Given the description of an element on the screen output the (x, y) to click on. 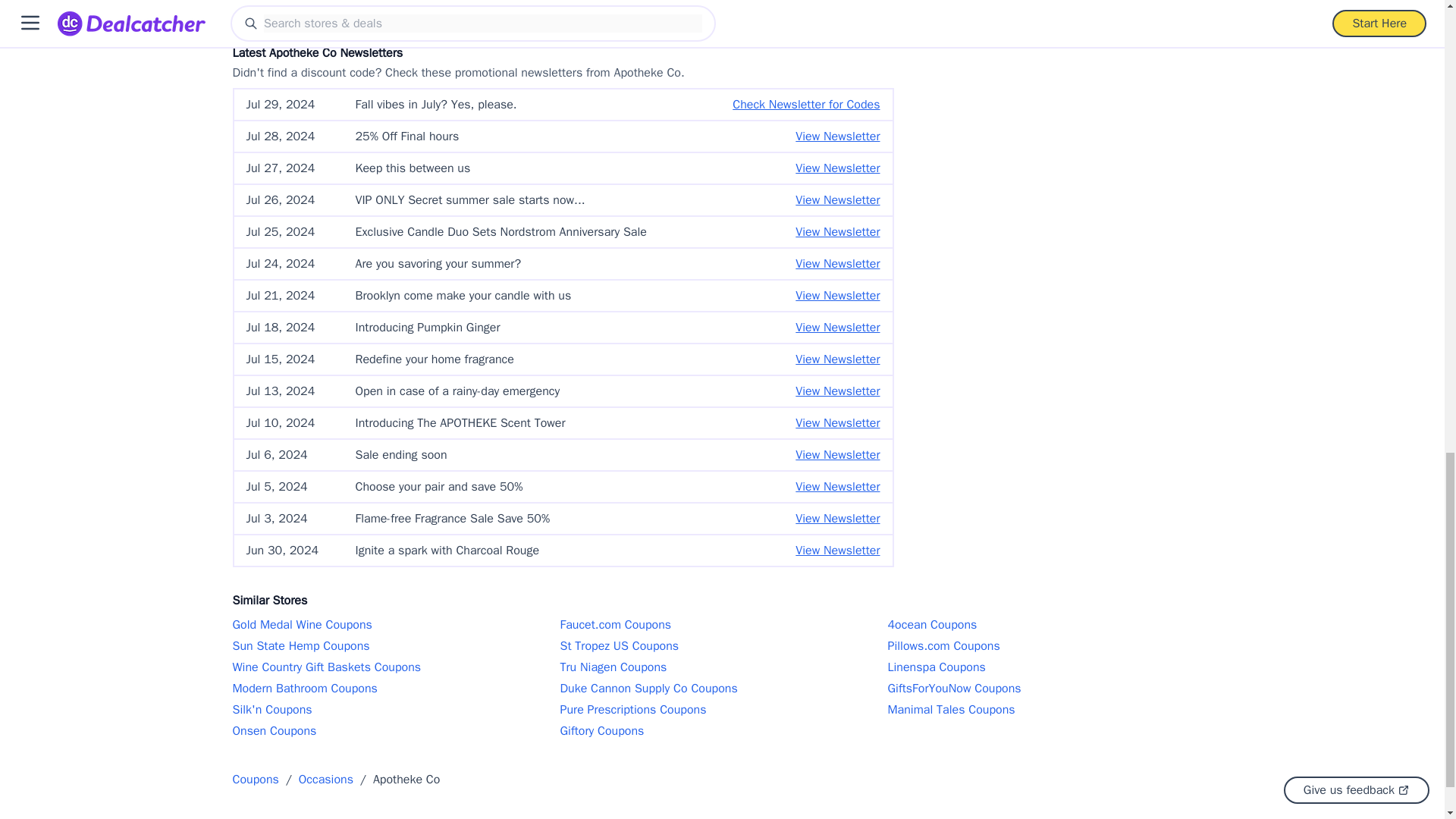
Check Newsletter for Codes (805, 104)
View Newsletter (836, 199)
View Newsletter (836, 167)
View Newsletter (836, 136)
View Newsletter (836, 231)
